Given the description of an element on the screen output the (x, y) to click on. 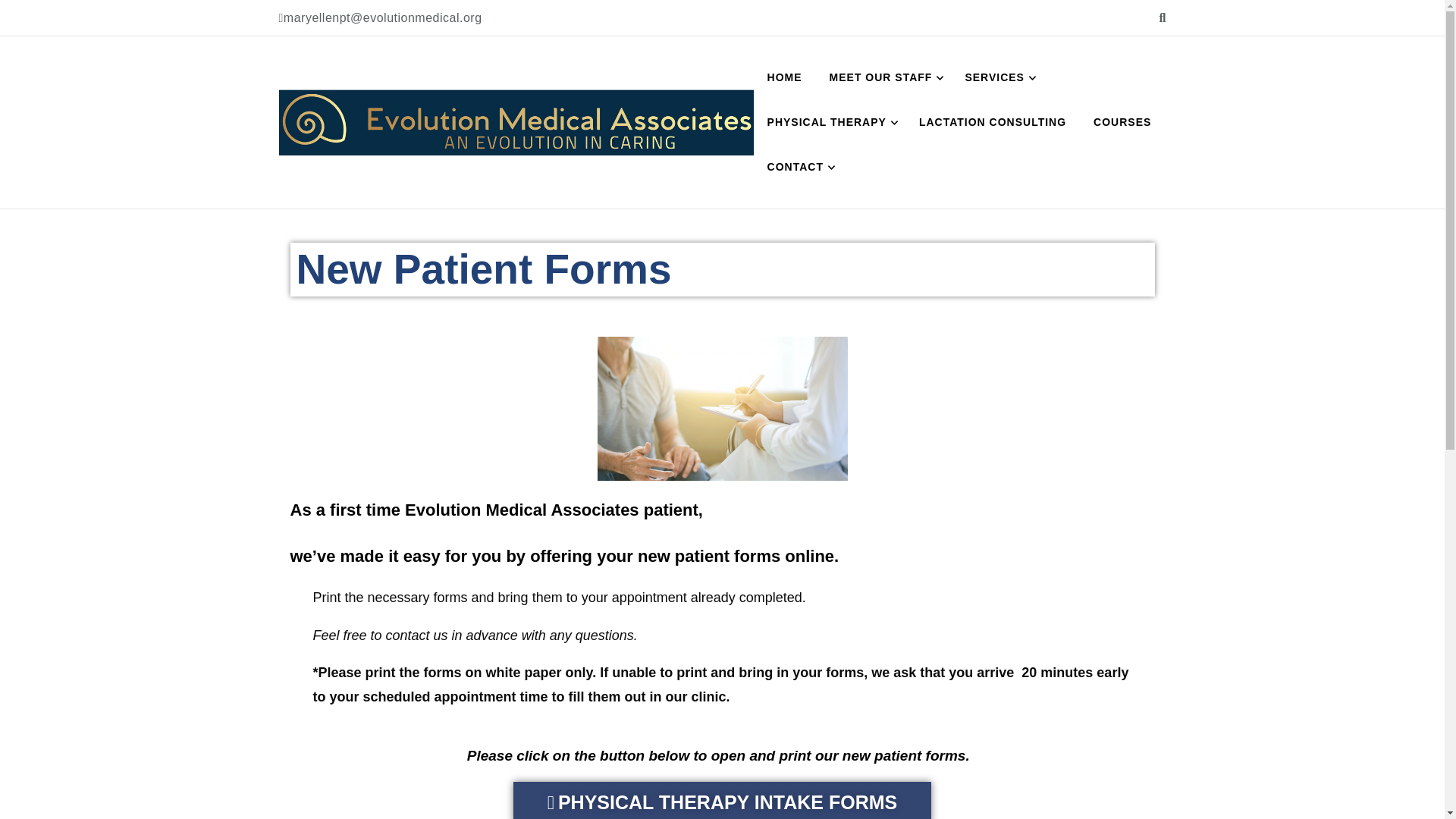
COURSES (1122, 121)
CONTACT (798, 166)
PHYSICAL THERAPY INTAKE FORMS (722, 800)
PHYSICAL THERAPY (829, 121)
MEET OUR STAFF (883, 77)
Evolution Medical Associates (491, 171)
LACTATION CONSULTING (992, 121)
SERVICES (996, 77)
HOME (784, 77)
